Given the description of an element on the screen output the (x, y) to click on. 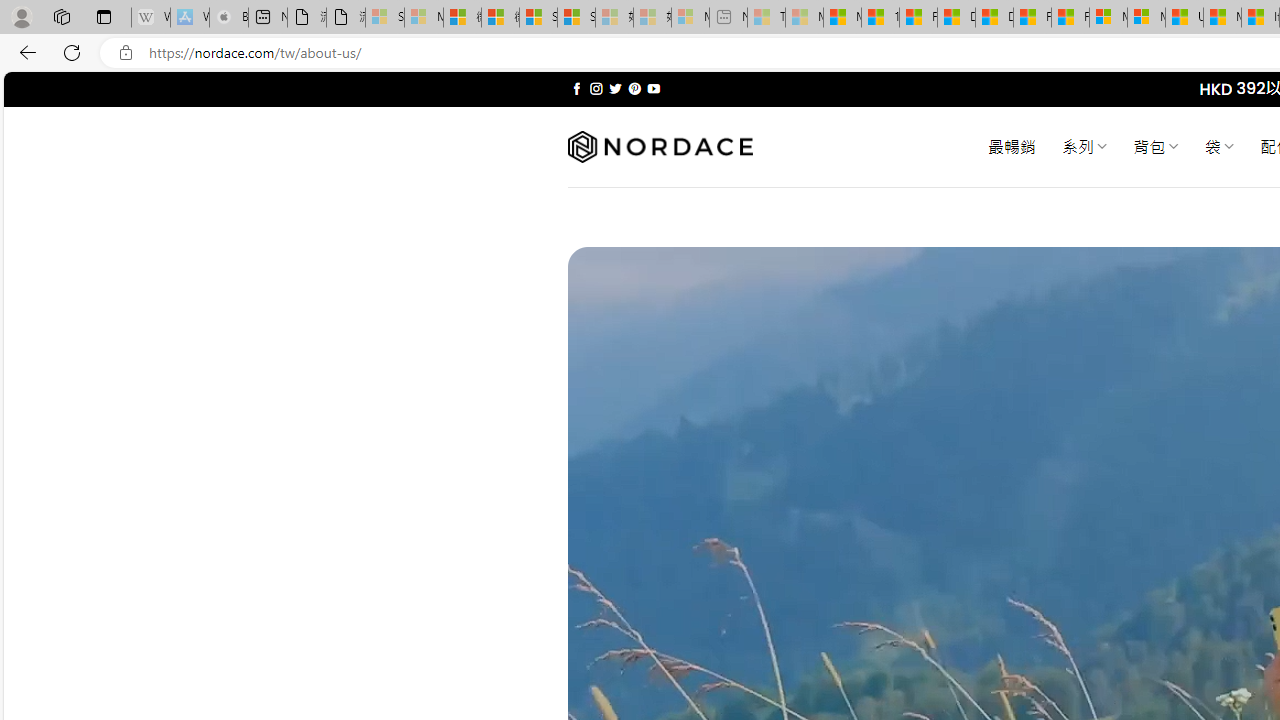
US Heat Deaths Soared To Record High Last Year (1184, 17)
Drinking tea every day is proven to delay biological aging (993, 17)
Marine life - MSN - Sleeping (804, 17)
Top Stories - MSN - Sleeping (765, 17)
